Given the description of an element on the screen output the (x, y) to click on. 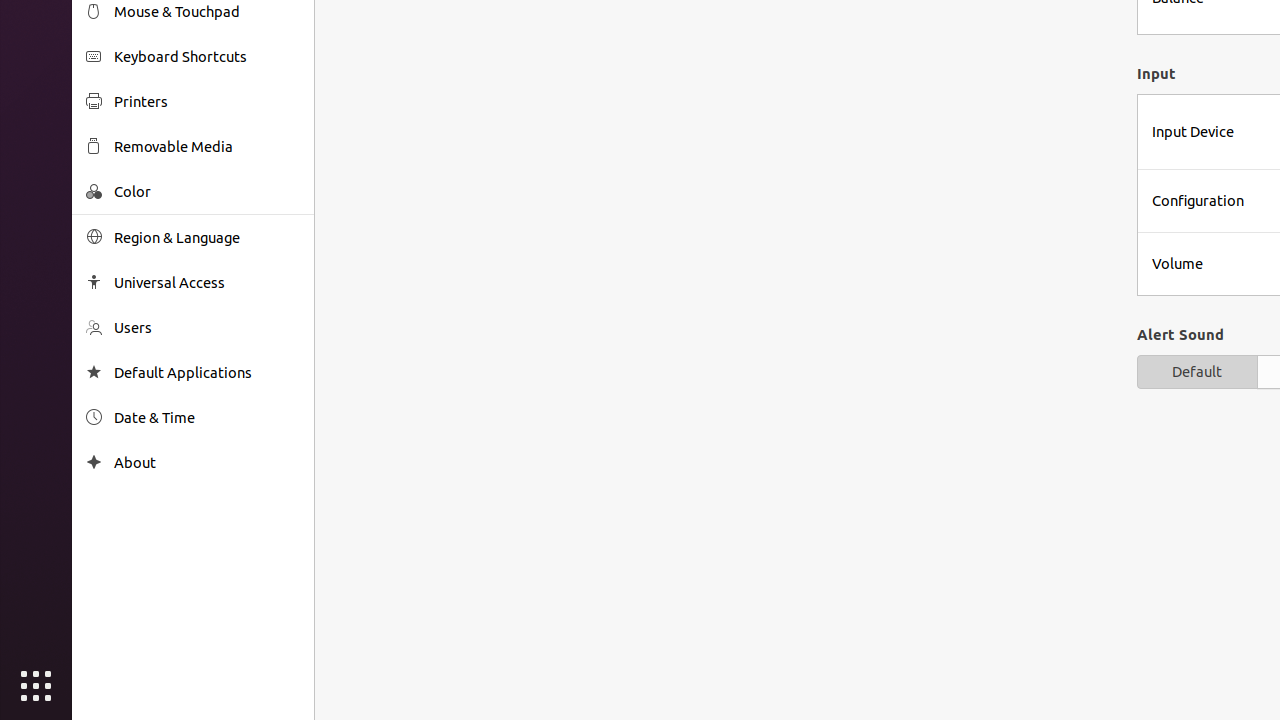
Users Element type: label (207, 327)
About Element type: icon (94, 462)
Keyboard Shortcuts Element type: label (207, 56)
Region & Language Element type: label (207, 237)
Default Applications Element type: label (207, 372)
